Given the description of an element on the screen output the (x, y) to click on. 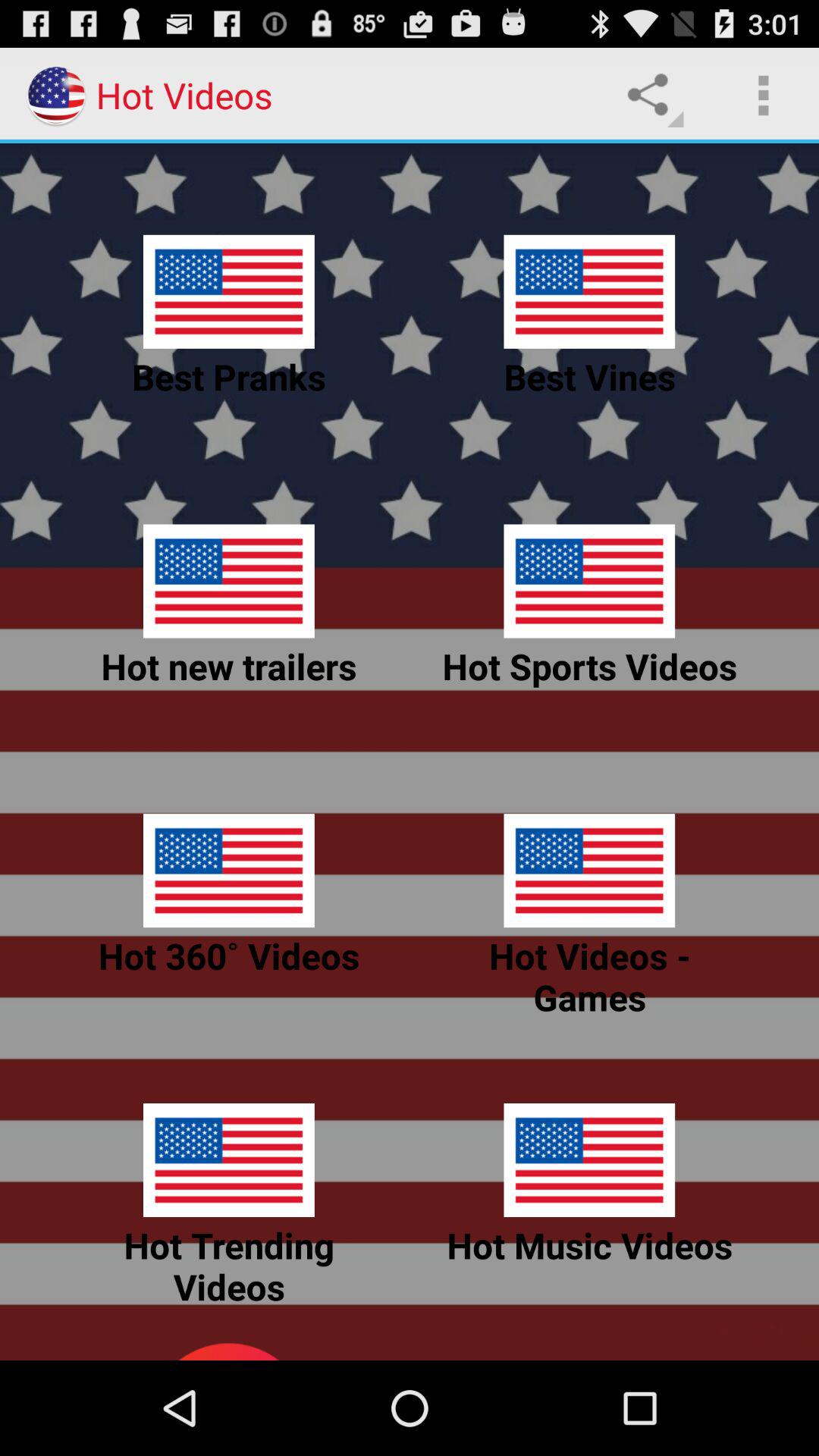
click on share (651, 95)
